Given the description of an element on the screen output the (x, y) to click on. 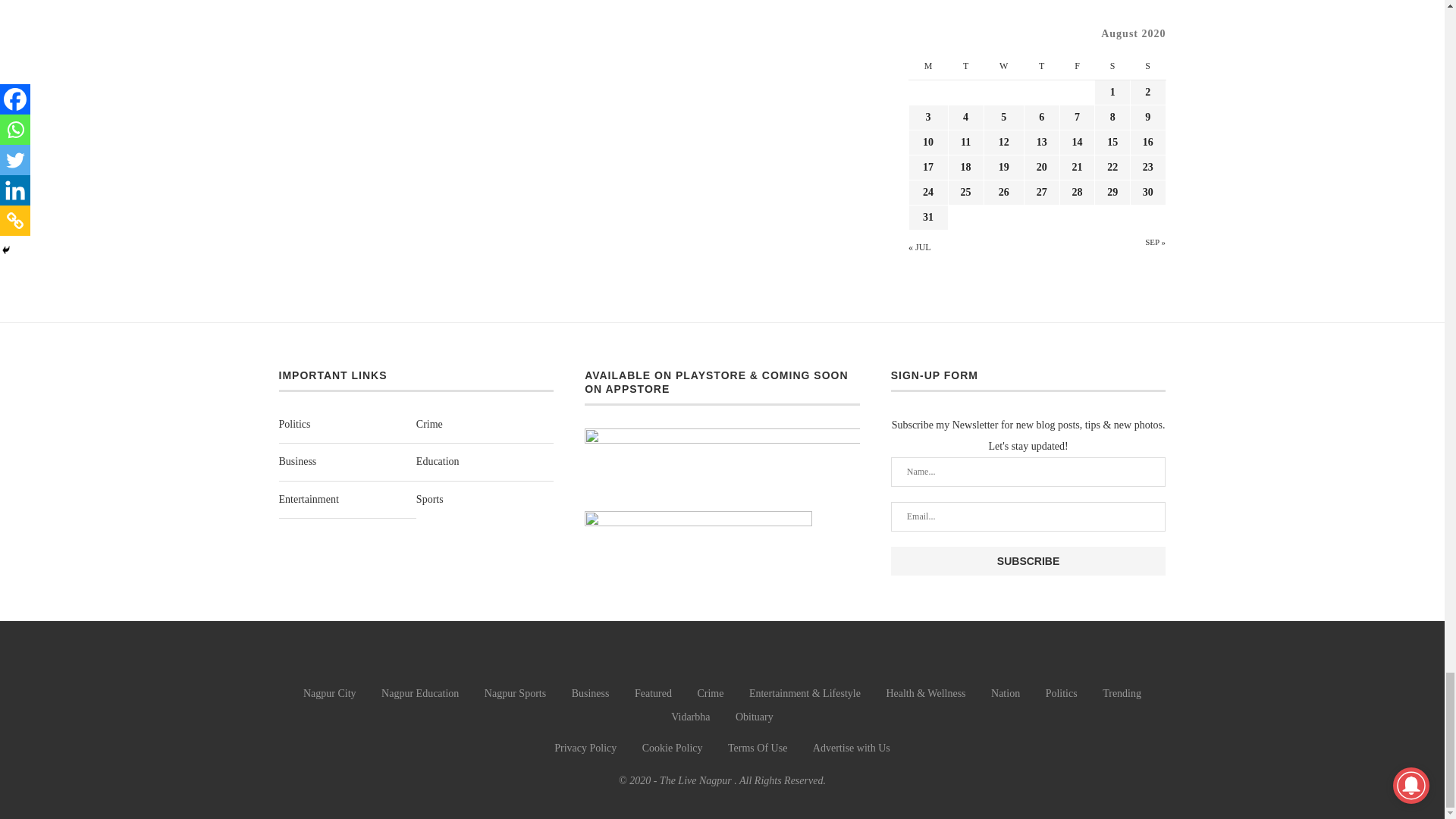
Subscribe (1028, 561)
